Given the description of an element on the screen output the (x, y) to click on. 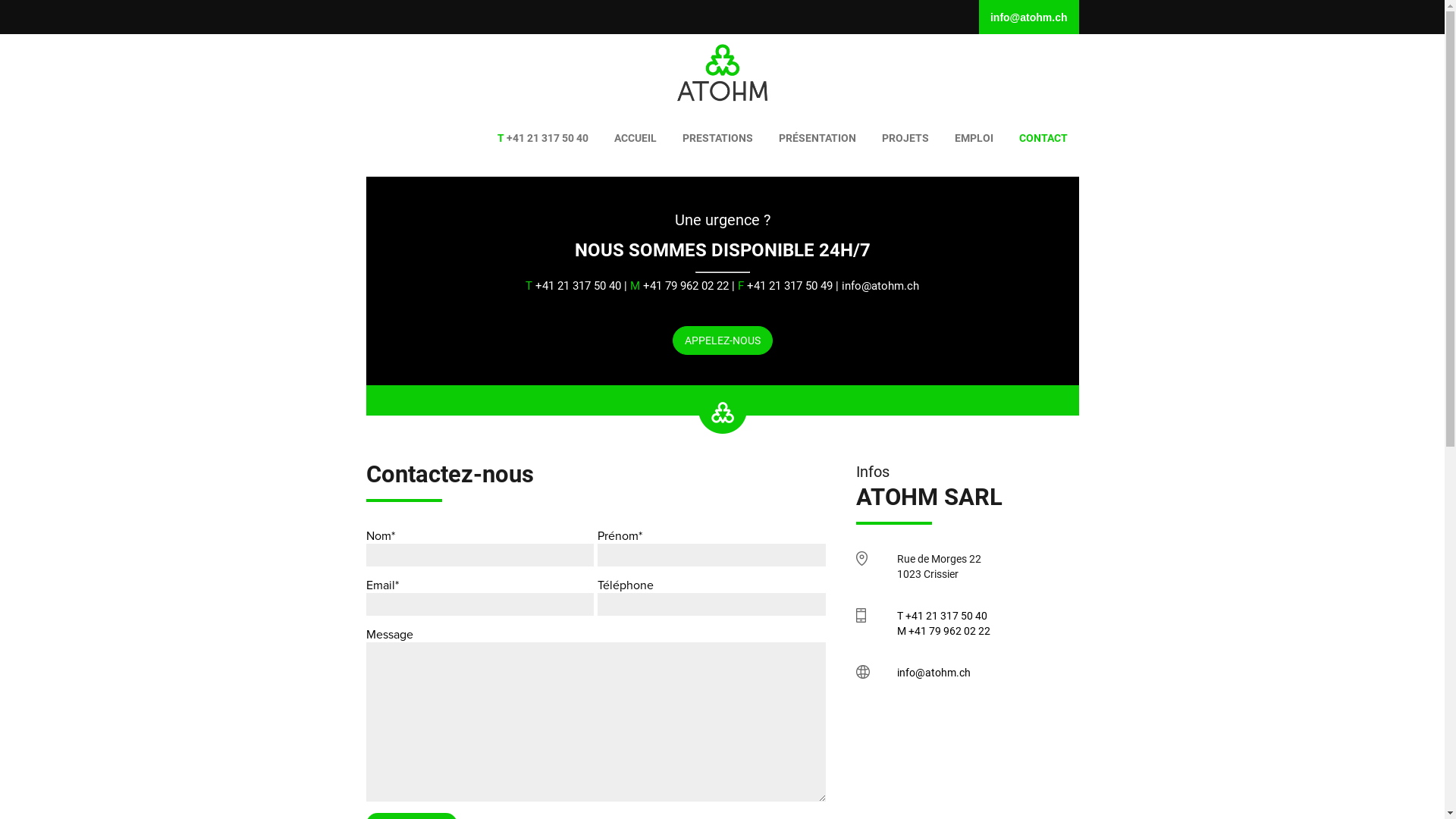
PROJETS Element type: text (904, 137)
APPELEZ-NOUS Element type: text (721, 340)
M +41 79 962 02 22 Element type: text (943, 630)
+41 21 317 50 40 Element type: text (542, 137)
info@atohm.ch Element type: text (880, 285)
CONTACT Element type: text (1043, 137)
APPELEZ-NOUS Element type: text (721, 340)
PRESTATIONS Element type: text (717, 137)
ACCUEIL Element type: text (635, 137)
EMPLOI Element type: text (972, 137)
info@atohm.ch Element type: text (933, 672)
T +41 21 317 50 40 Element type: text (942, 615)
info@atohm.ch Element type: text (1028, 16)
